Given the description of an element on the screen output the (x, y) to click on. 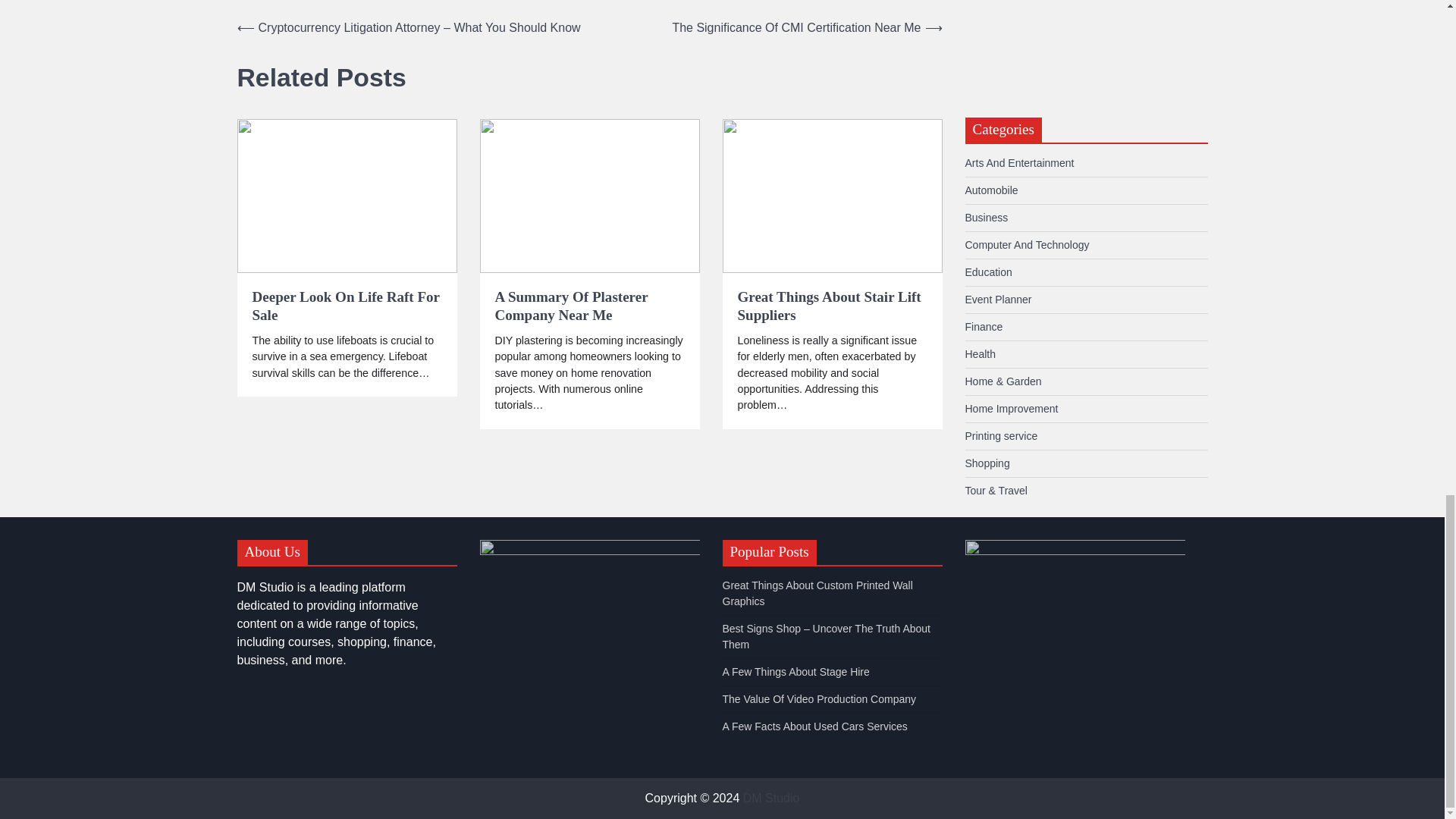
Great Things About Stair Lift Suppliers (831, 306)
Deeper Look On Life Raft For Sale (346, 306)
A Summary Of Plasterer Company Near Me (589, 306)
